Given the description of an element on the screen output the (x, y) to click on. 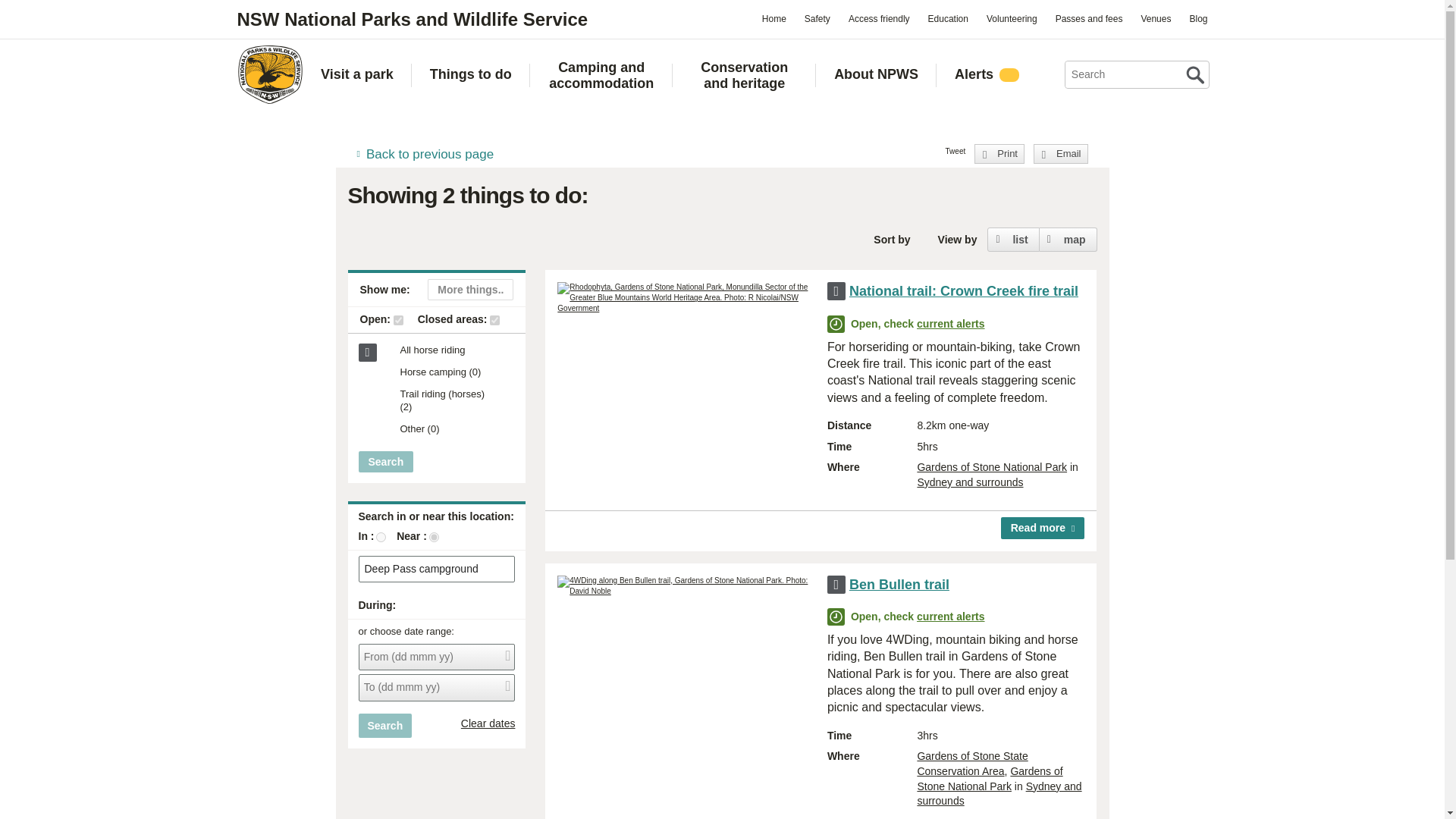
About NPWS (876, 74)
Education (947, 18)
Visit a park (356, 74)
Safety (816, 18)
Things to do (470, 74)
Access friendly (879, 18)
Camping and accommodation (601, 75)
true (398, 320)
true (494, 320)
Venues (1155, 18)
Home (773, 18)
Passes and fees (1089, 18)
